Given the description of an element on the screen output the (x, y) to click on. 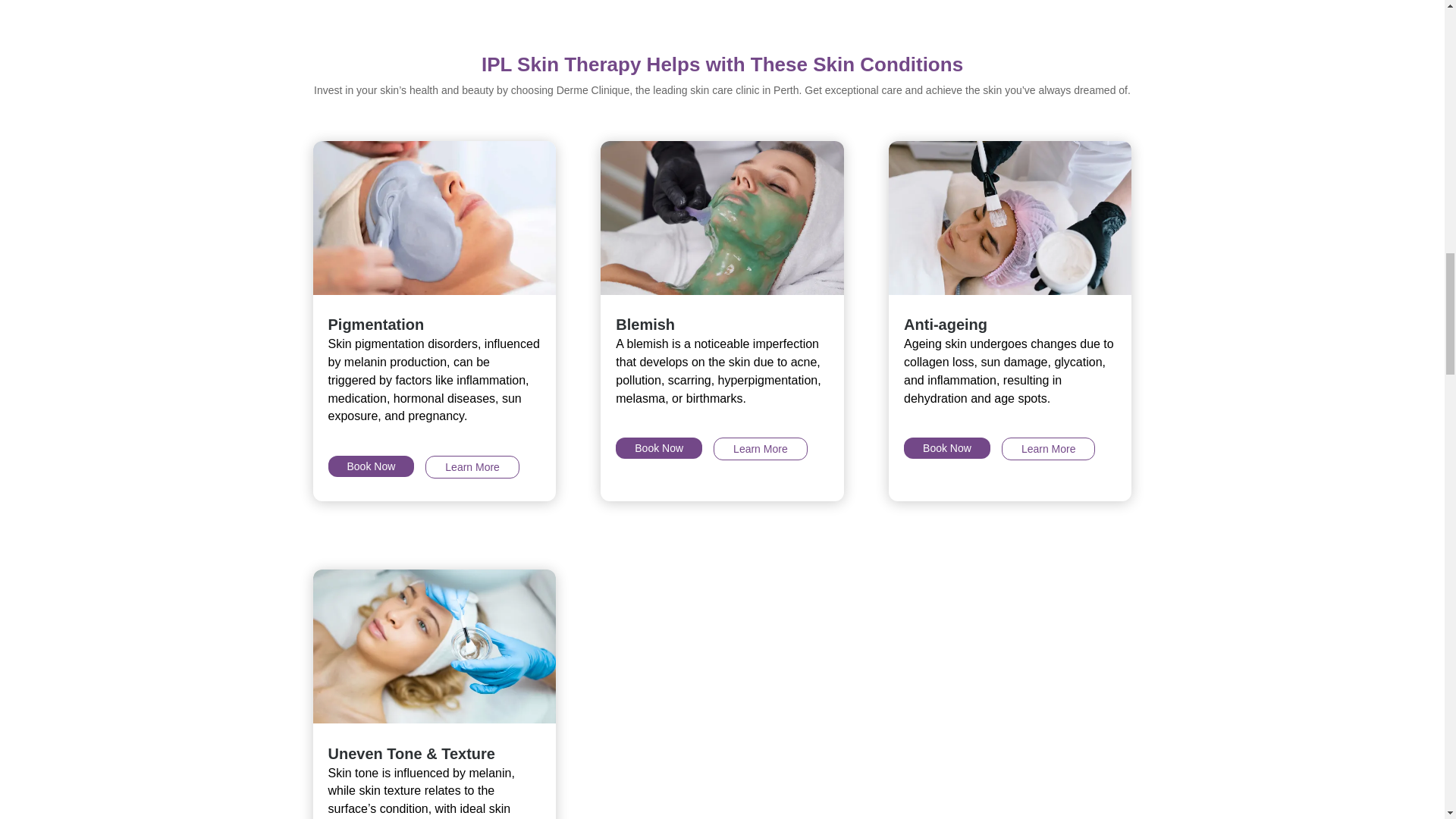
Mask group - 2024-02-27T100623.716 (1009, 217)
Mask group - 2024-02-27T100506.032 (433, 217)
image (721, 217)
image (433, 646)
